Given the description of an element on the screen output the (x, y) to click on. 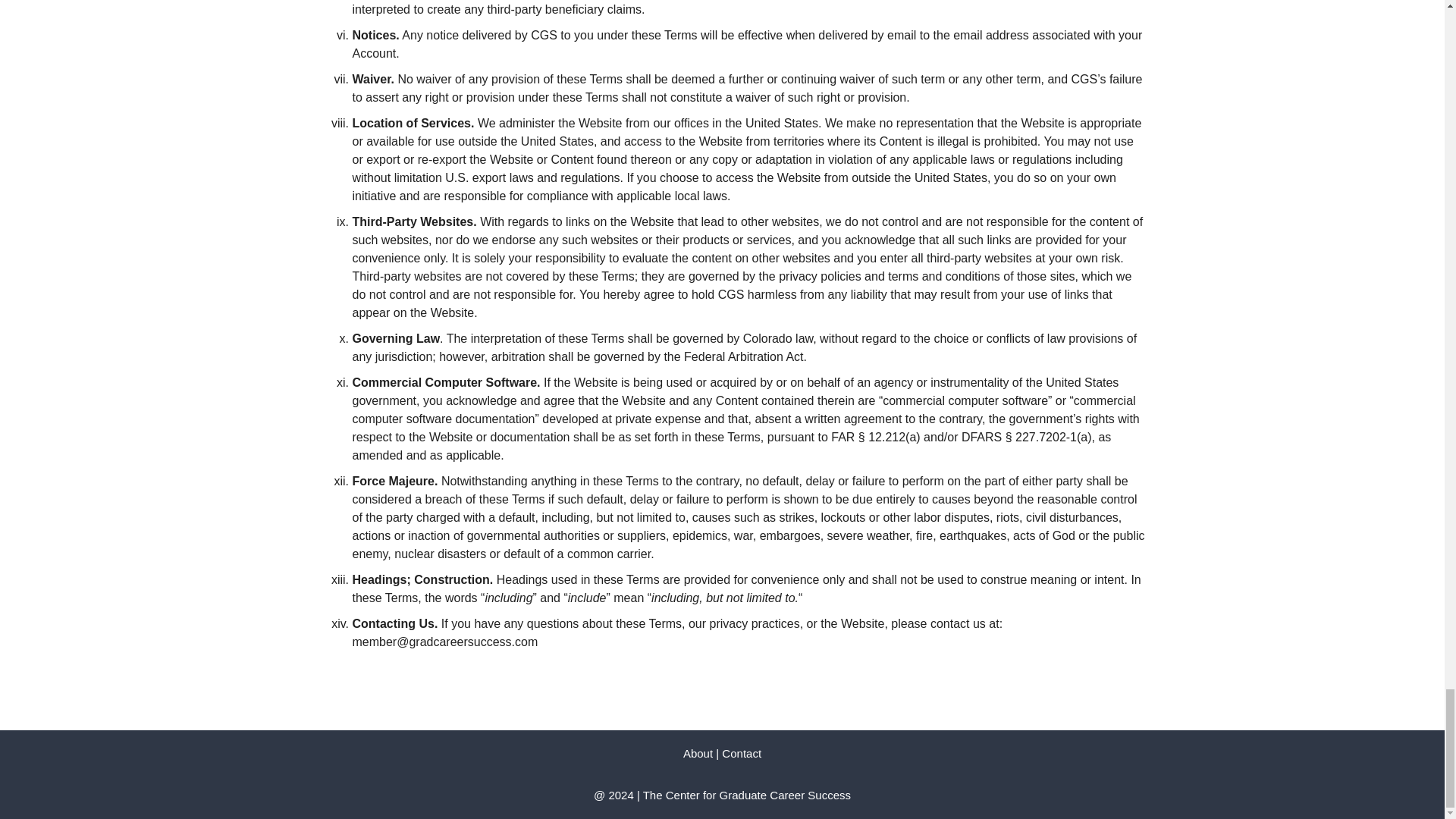
About (697, 753)
Contact (741, 753)
